Given the description of an element on the screen output the (x, y) to click on. 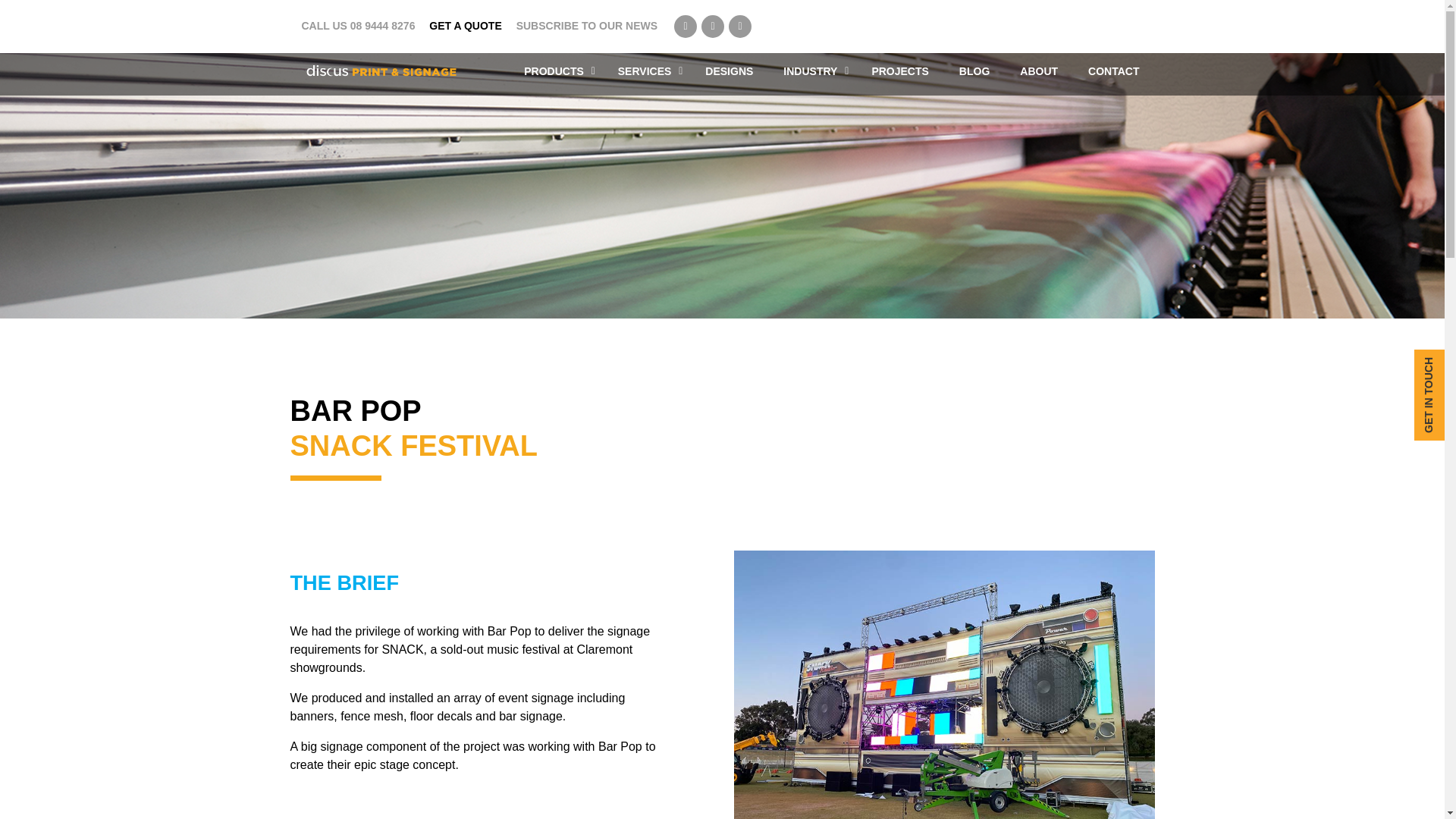
stage banners perth (943, 684)
SERVICES (646, 71)
CALL US 08 9444 8276 (357, 25)
PRODUCTS (555, 71)
SUBSCRIBE TO OUR NEWS (587, 25)
GET A QUOTE (464, 25)
DESIGNS (729, 71)
INDUSTRY (812, 71)
